Given the description of an element on the screen output the (x, y) to click on. 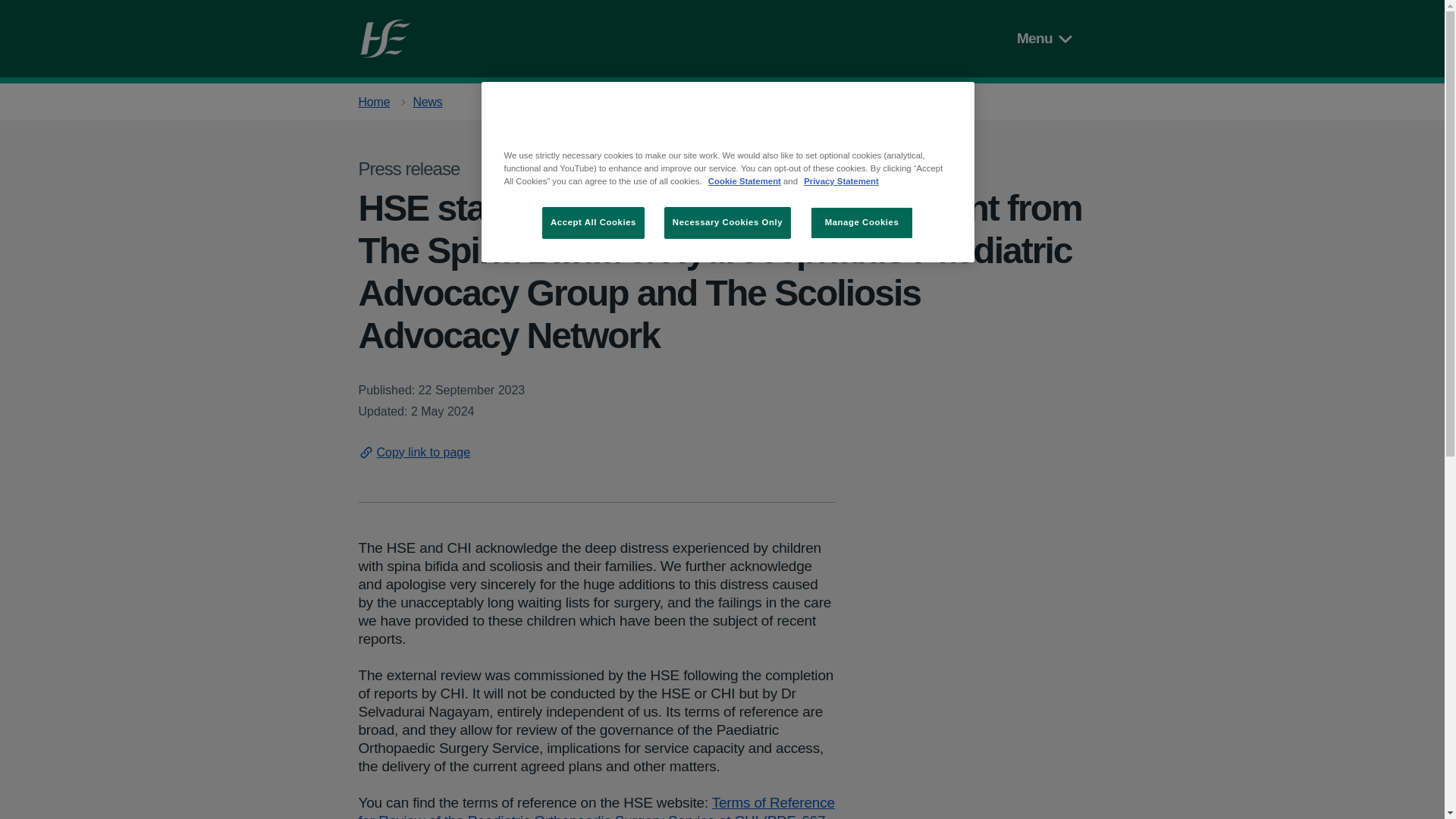
Necessary Cookies Only (726, 223)
Privacy Statement (841, 180)
News (427, 101)
Home (374, 101)
Menu (1047, 38)
Accept All Cookies (593, 223)
Cookie Statement (743, 180)
Manage Cookies (861, 223)
Copy link to page (414, 452)
